Given the description of an element on the screen output the (x, y) to click on. 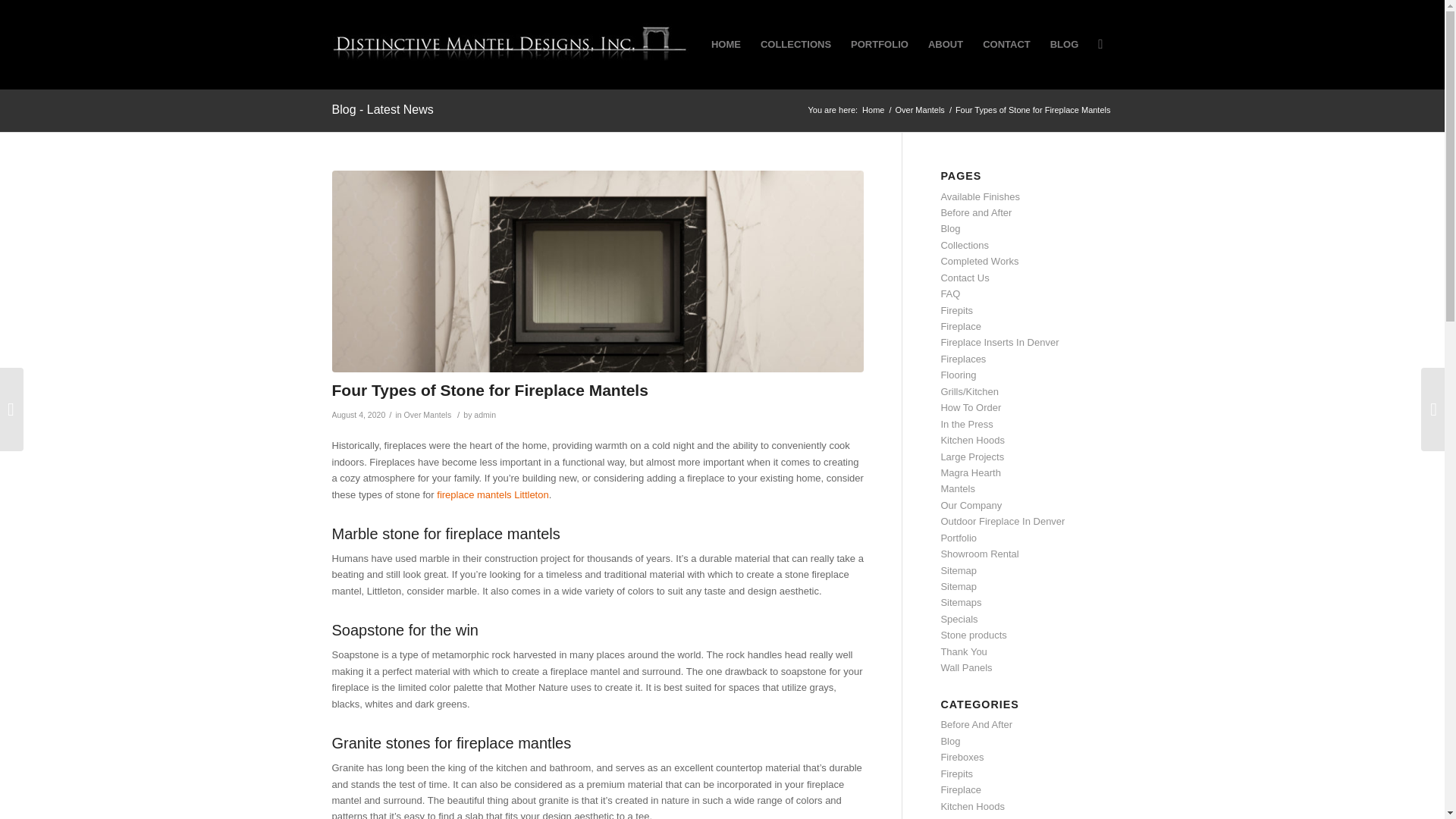
Four Types of Stone for Fireplace Mantels (489, 389)
Posts by admin (485, 414)
Permanent Link: Blog - Latest News (382, 109)
COLLECTIONS (796, 44)
Blog - Latest News (382, 109)
Over Mantels (427, 414)
Over Mantels (919, 110)
Distinctive Mantel Designs (873, 110)
Home (873, 110)
Permanent Link: Four Types of Stone for Fireplace Mantels (489, 389)
fireplace mantels Littleton (492, 494)
admin (485, 414)
